Given the description of an element on the screen output the (x, y) to click on. 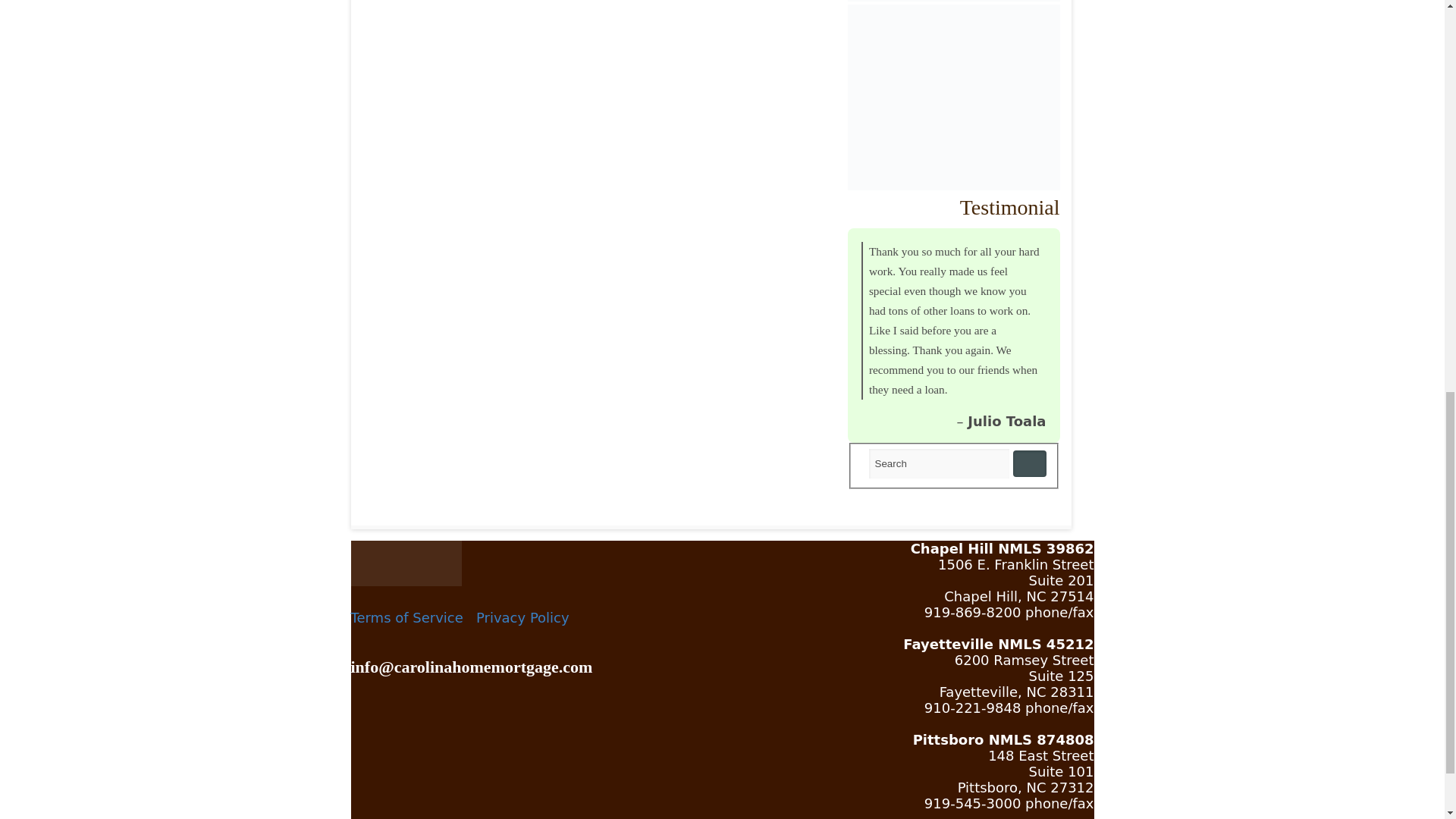
Terms of Service (406, 617)
Search (939, 463)
Privacy Policy (522, 617)
